Given the description of an element on the screen output the (x, y) to click on. 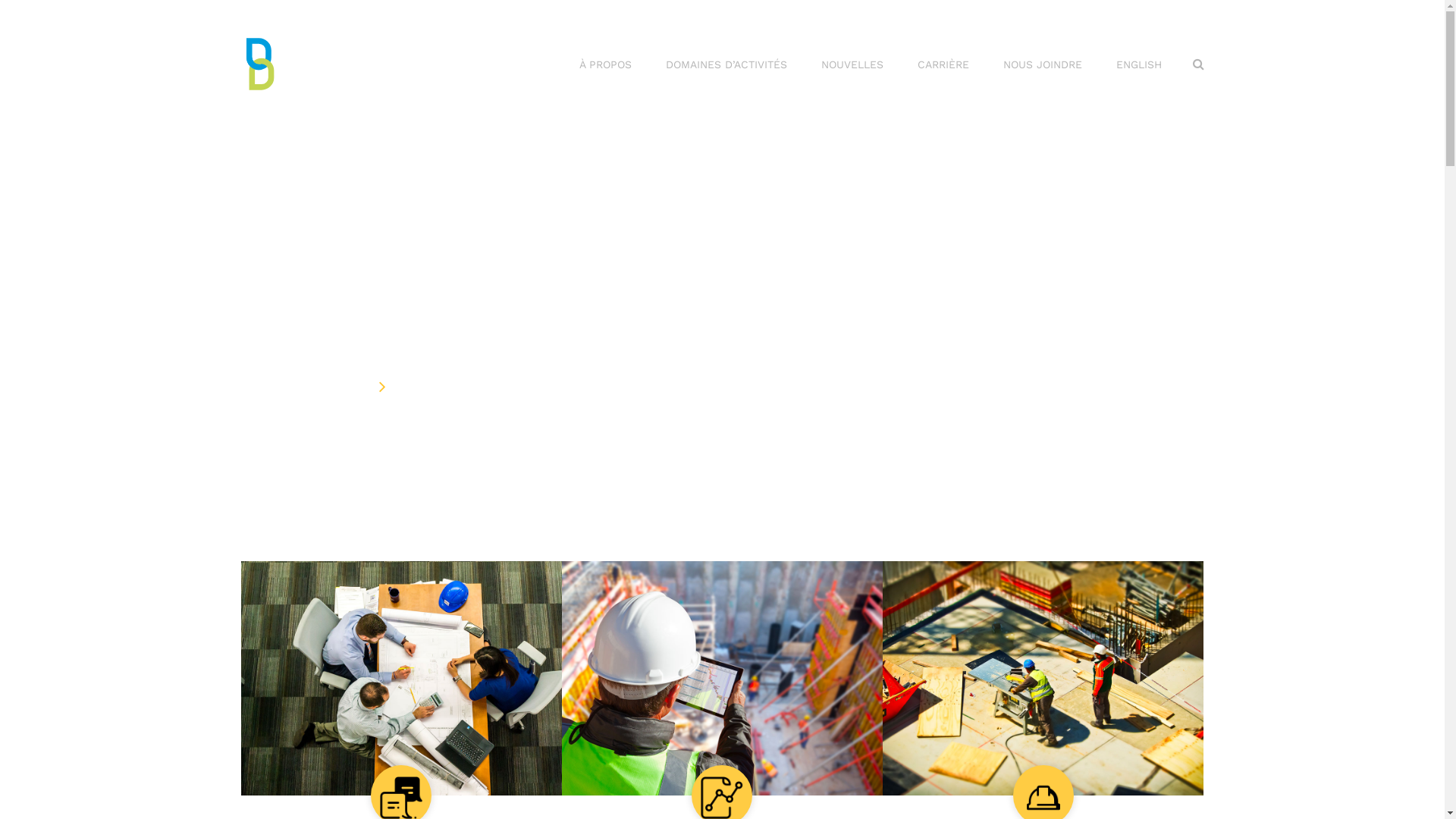
NOUS JOINDRE Element type: text (1041, 64)
ENGLISH Element type: text (1138, 64)
NOUVELLES Element type: text (851, 64)
Search Element type: text (1197, 63)
